Given the description of an element on the screen output the (x, y) to click on. 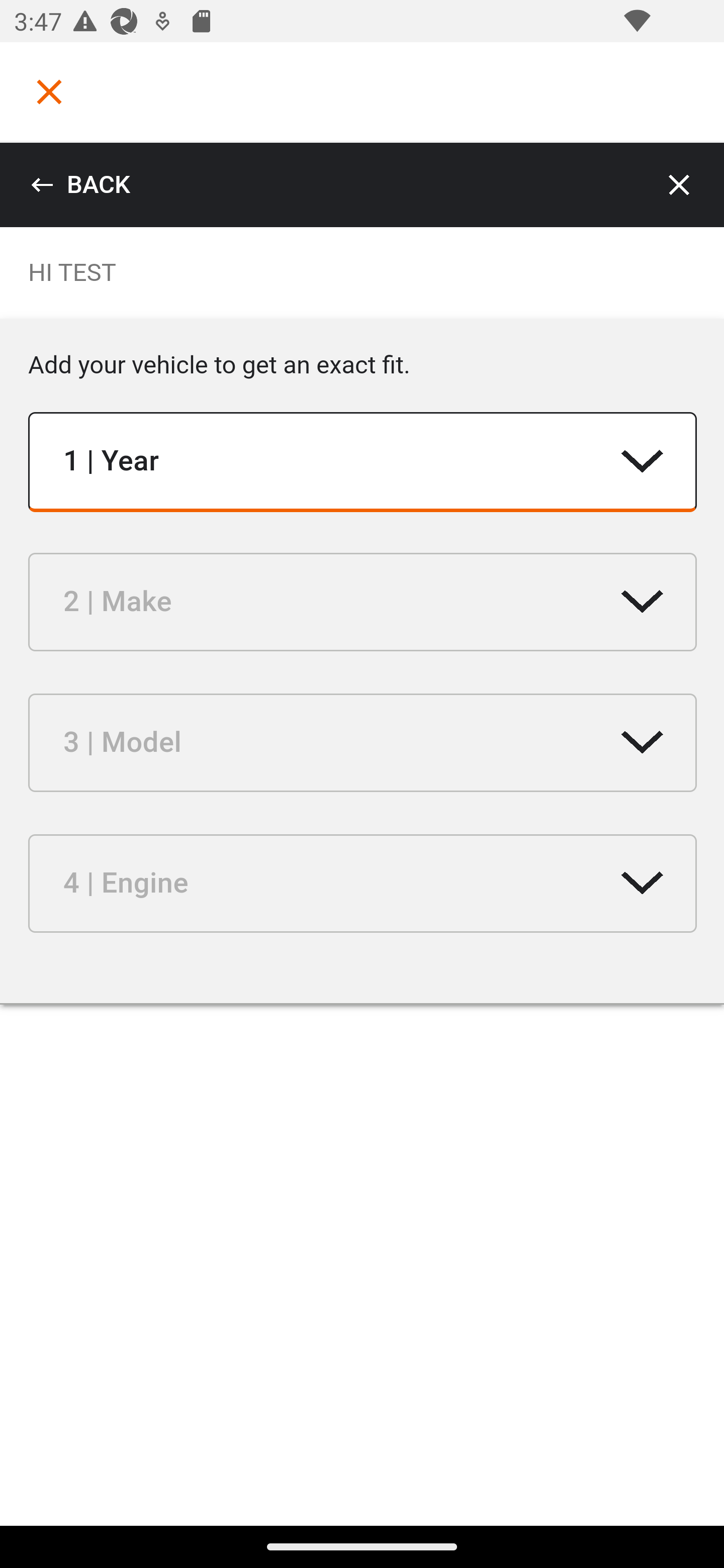
 (49, 91)
BACK (79, 184)
Close (679, 184)
1 | Year (363, 462)
Add Vehicle (182, 495)
2 | Make (363, 601)
3 | Model (363, 742)
4 | Engine (363, 883)
